Given the description of an element on the screen output the (x, y) to click on. 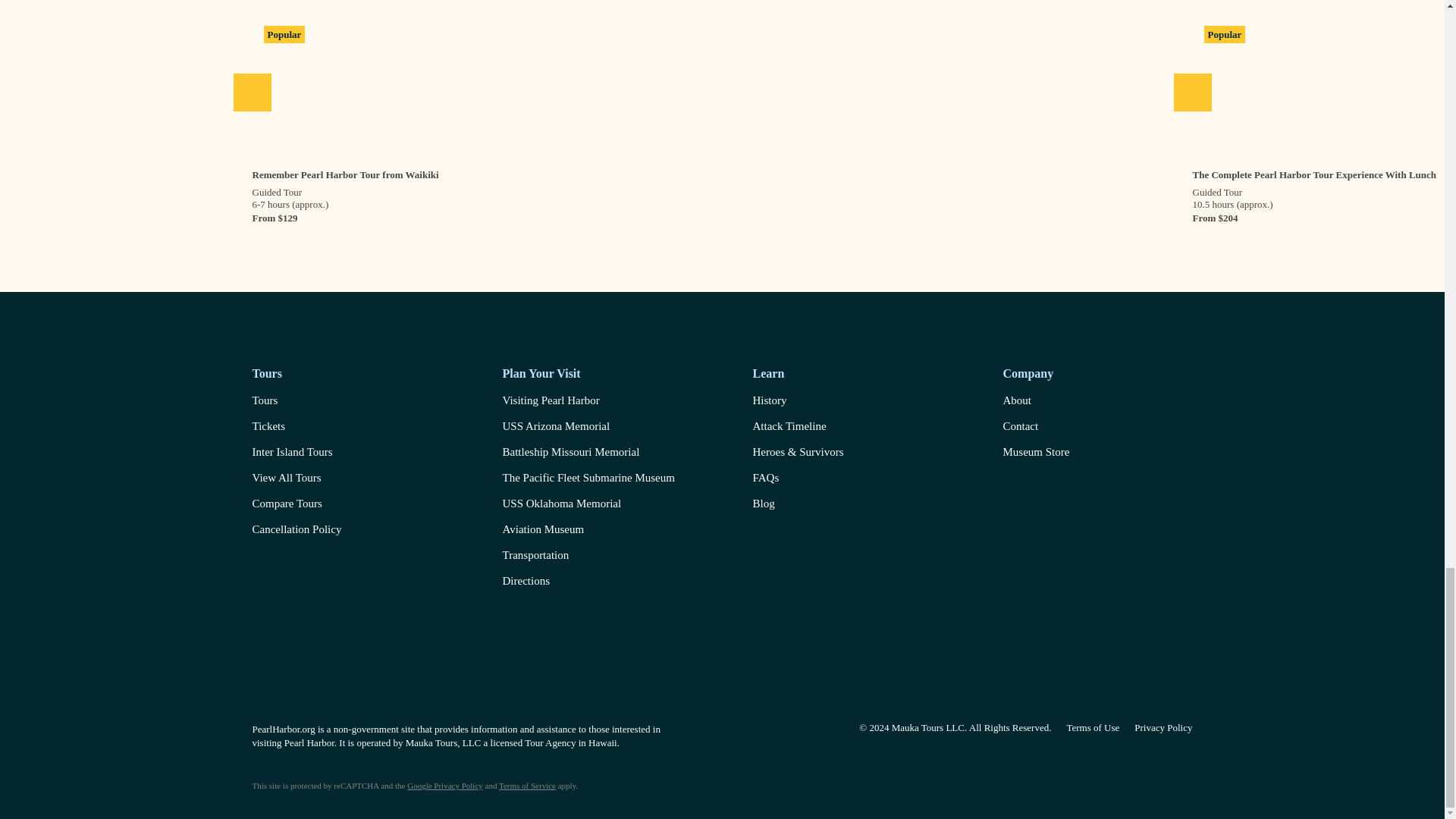
Inter Island Tours (295, 455)
Tickets (295, 429)
The Complete Pearl Harbor Tour Experience With Lunch (1313, 166)
Tours (295, 403)
Remember Pearl Harbor Tour from Waikiki (344, 166)
Popular (721, 84)
